Given the description of an element on the screen output the (x, y) to click on. 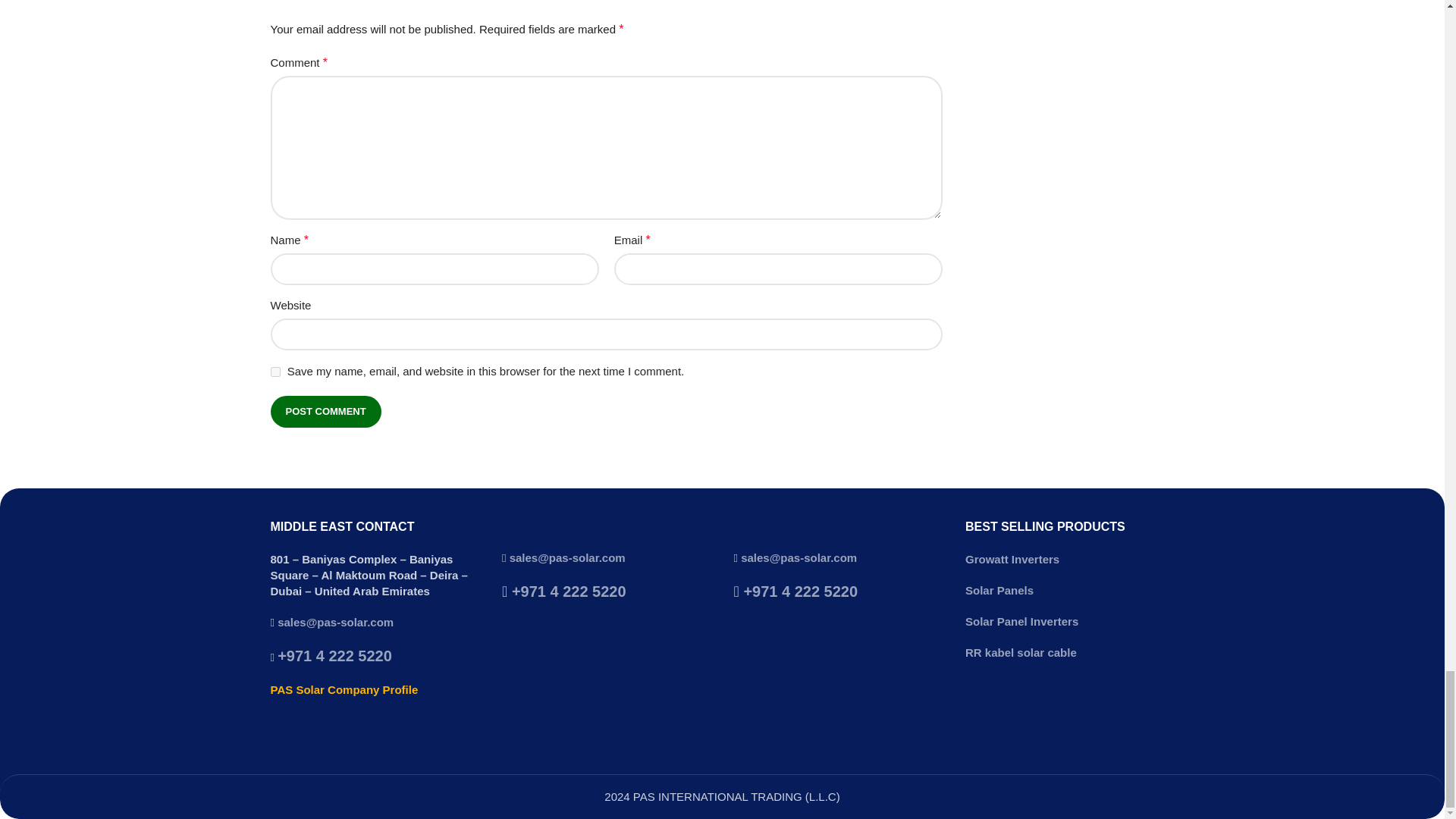
Post Comment (324, 411)
yes (274, 371)
